Given the description of an element on the screen output the (x, y) to click on. 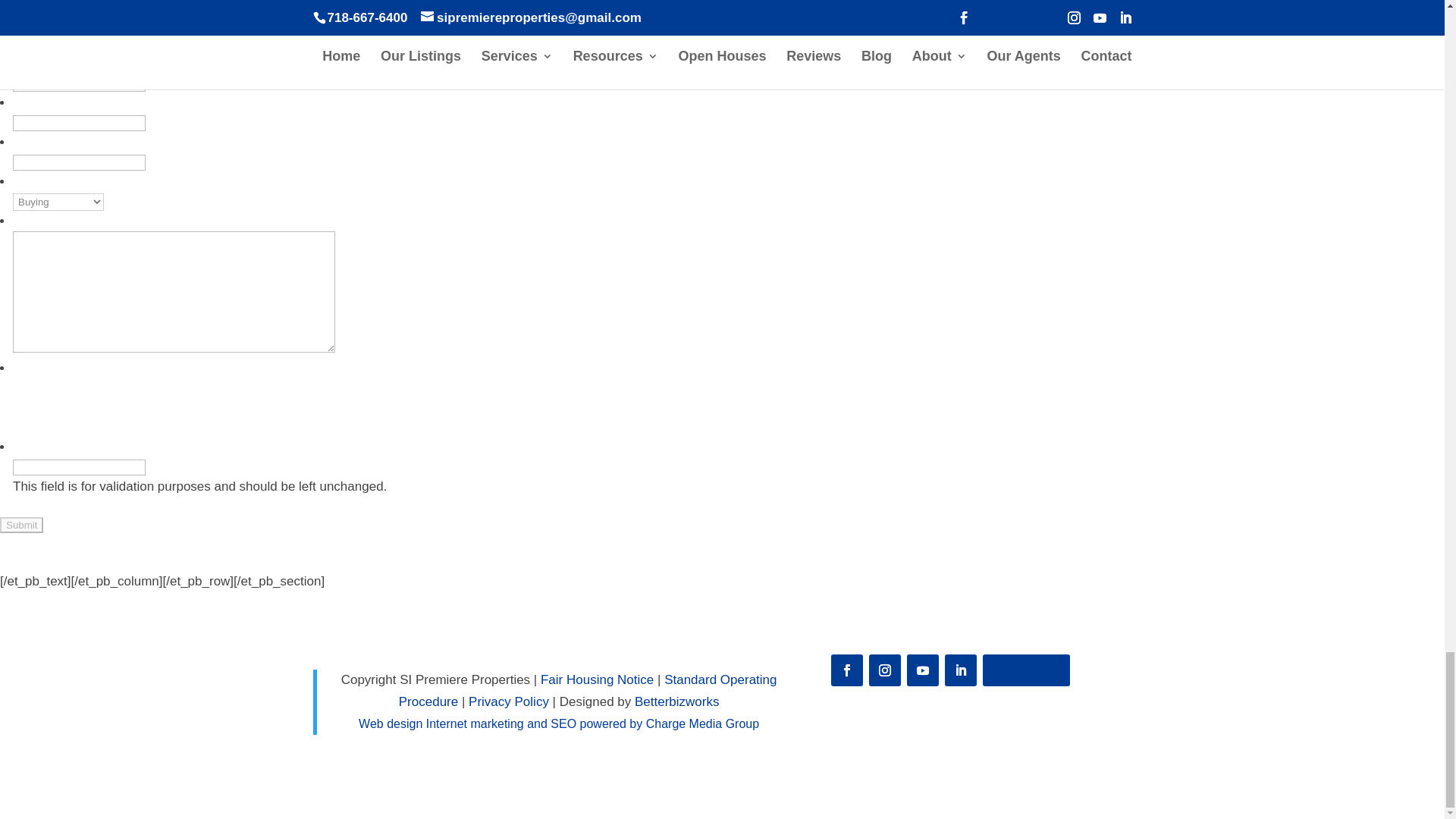
Submit (21, 524)
Follow on Facebook (847, 670)
Standard Operating Procedure (587, 690)
Follow on Twitter (1026, 670)
Follow on LinkedIn (960, 670)
Betterbizworks (676, 701)
Fair Housing Notice (596, 679)
reCAPTCHA (128, 407)
Privacy Policy (508, 701)
Follow on Instagram (885, 670)
Follow on Youtube (923, 670)
Submit (21, 524)
